Given the description of an element on the screen output the (x, y) to click on. 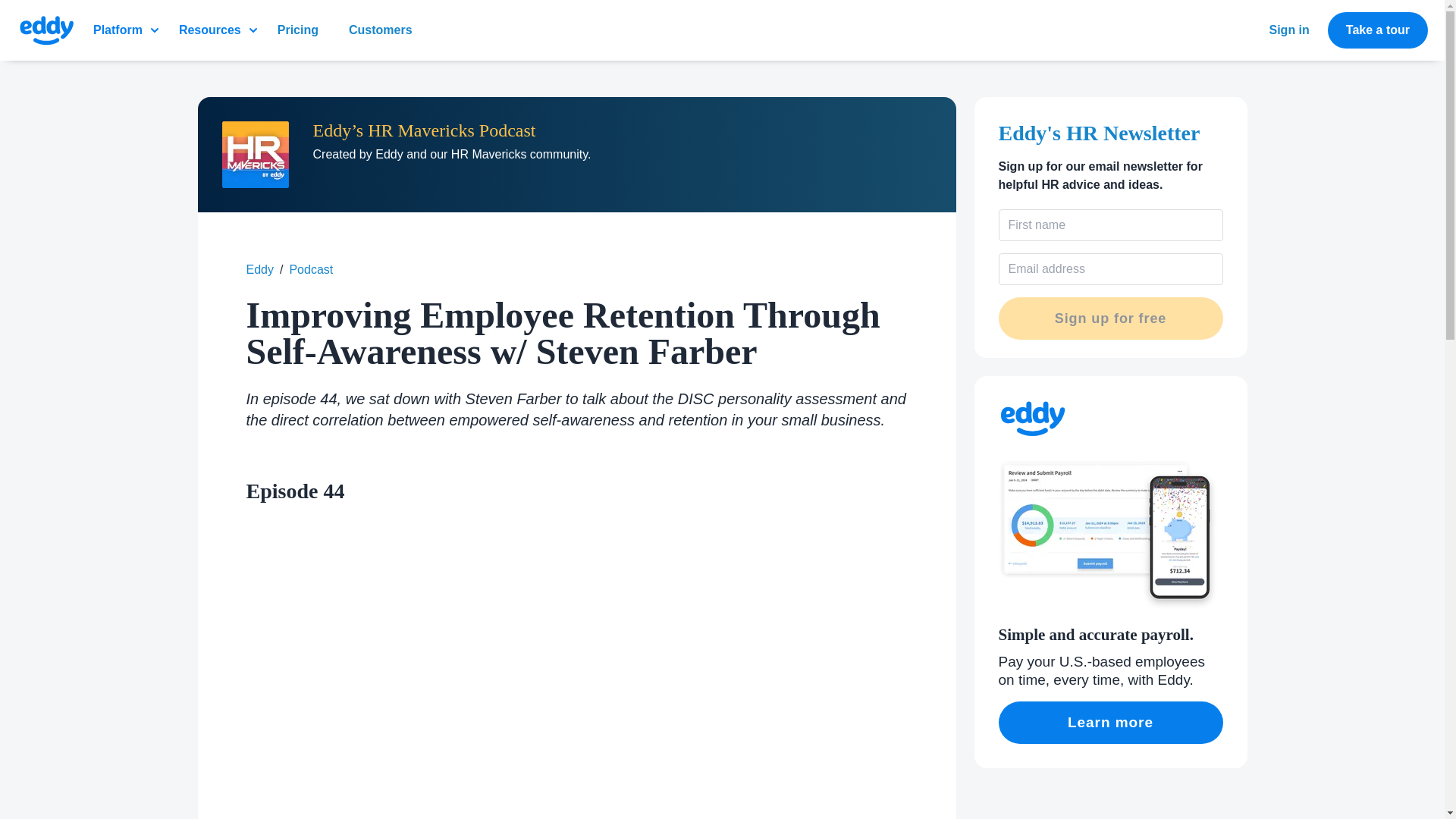
Eddy (259, 270)
Customers (387, 30)
Sign in (1288, 30)
Platform (126, 30)
Take a tour (1377, 30)
Invalid email address (1110, 269)
Pricing (304, 30)
Resources (219, 30)
